Given the description of an element on the screen output the (x, y) to click on. 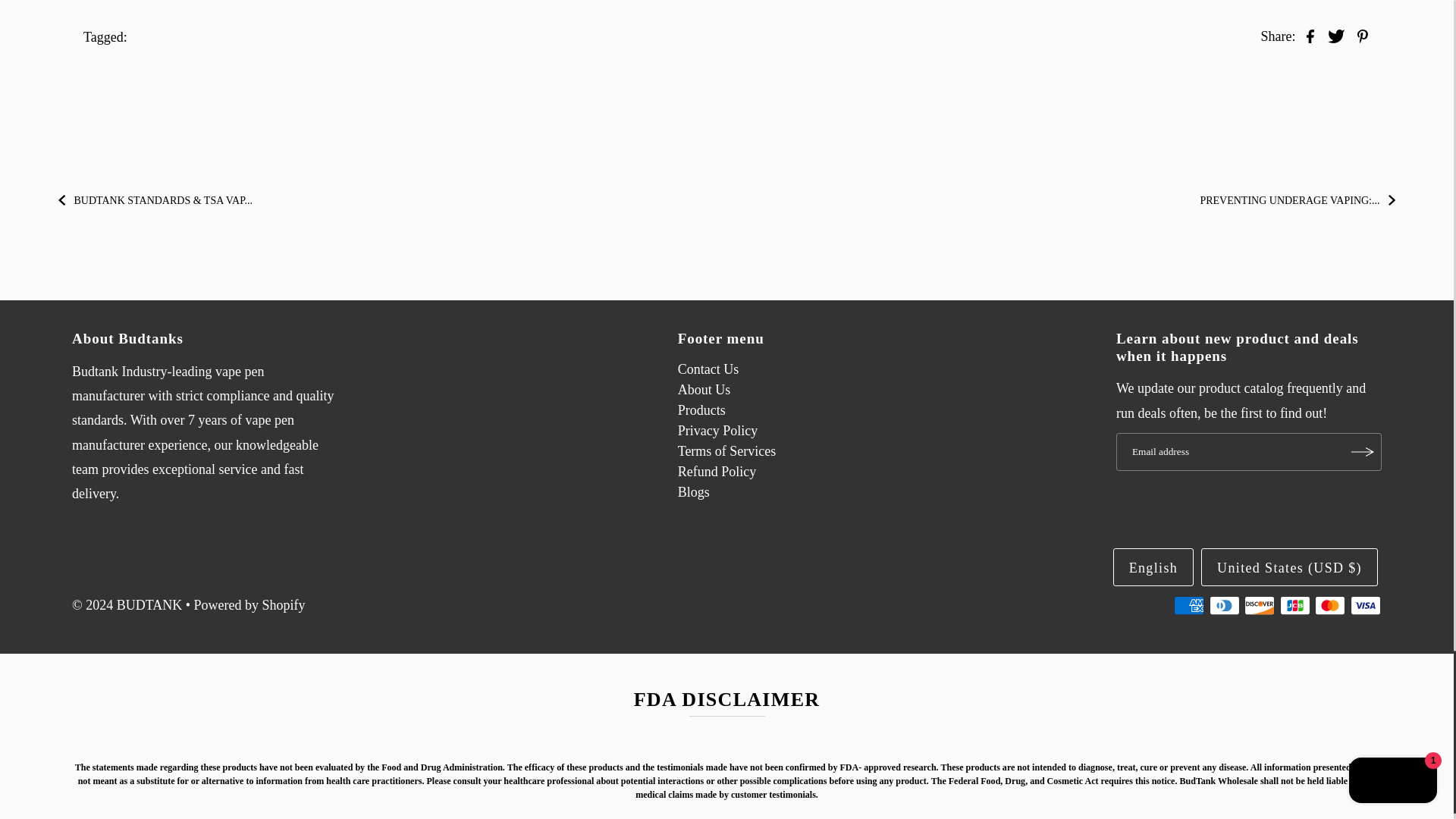
American Express (1188, 605)
Diners Club (1224, 605)
Visa (1365, 605)
Share on Twitter (1336, 34)
Share on Facebook (1310, 34)
JCB (1294, 605)
Mastercard (1329, 605)
Discover (1259, 605)
Share on Pinterest (1362, 34)
